Given the description of an element on the screen output the (x, y) to click on. 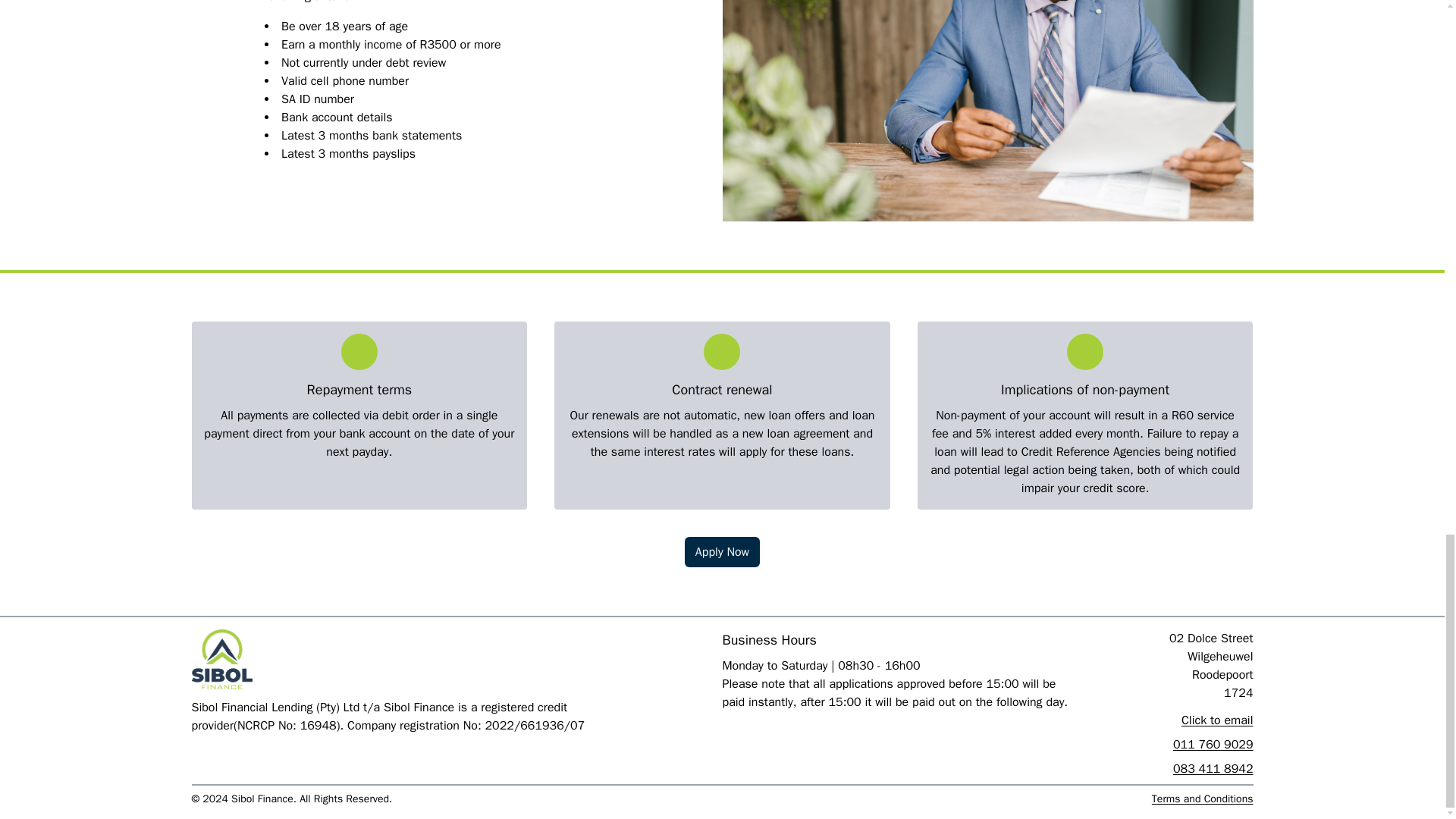
Apply Now (722, 552)
011 760 9029 (1165, 744)
Click to email (1165, 720)
Terms and Conditions (1202, 798)
083 411 8942 (1165, 769)
